Given the description of an element on the screen output the (x, y) to click on. 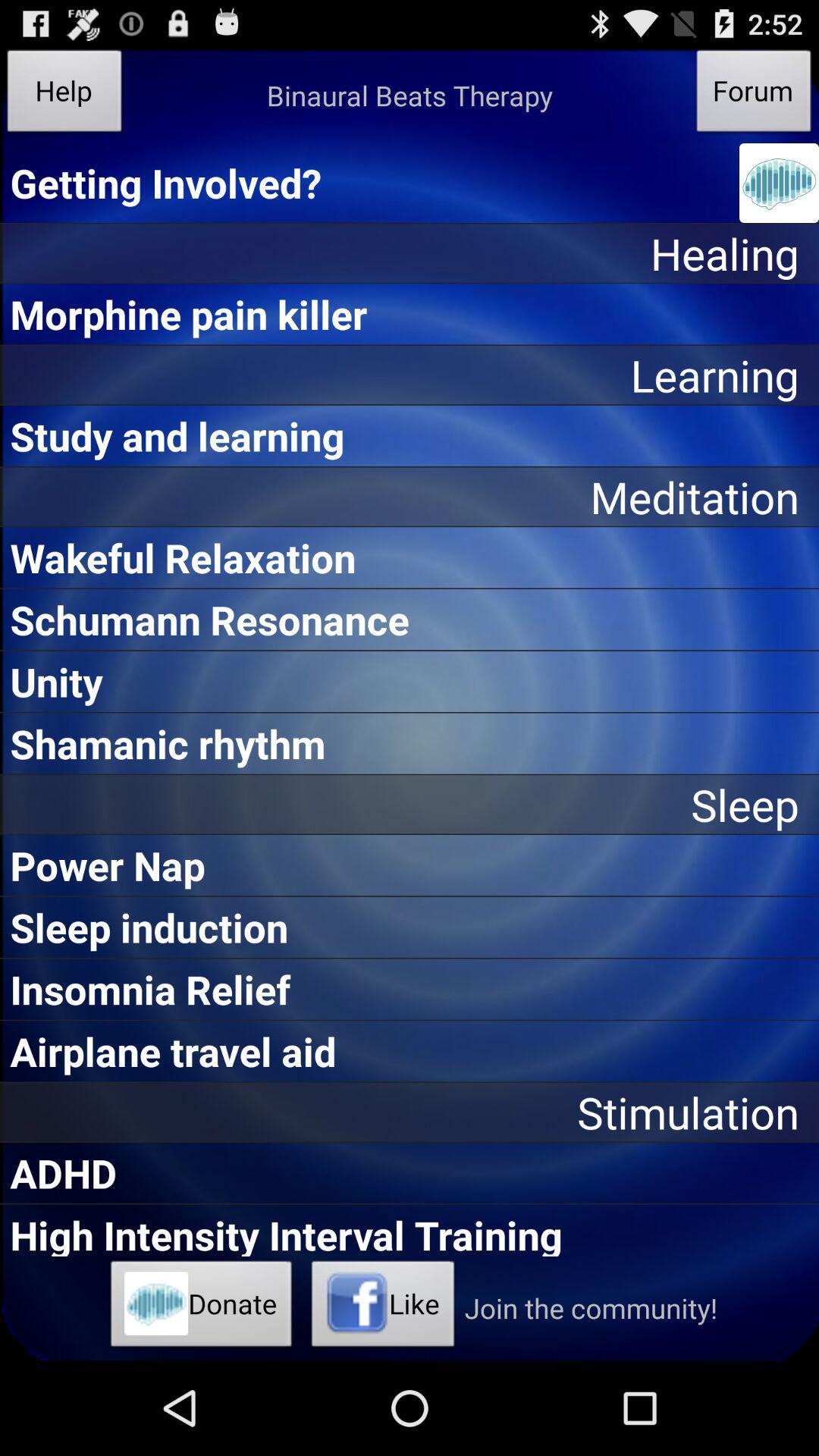
scroll to the donate icon (201, 1308)
